Given the description of an element on the screen output the (x, y) to click on. 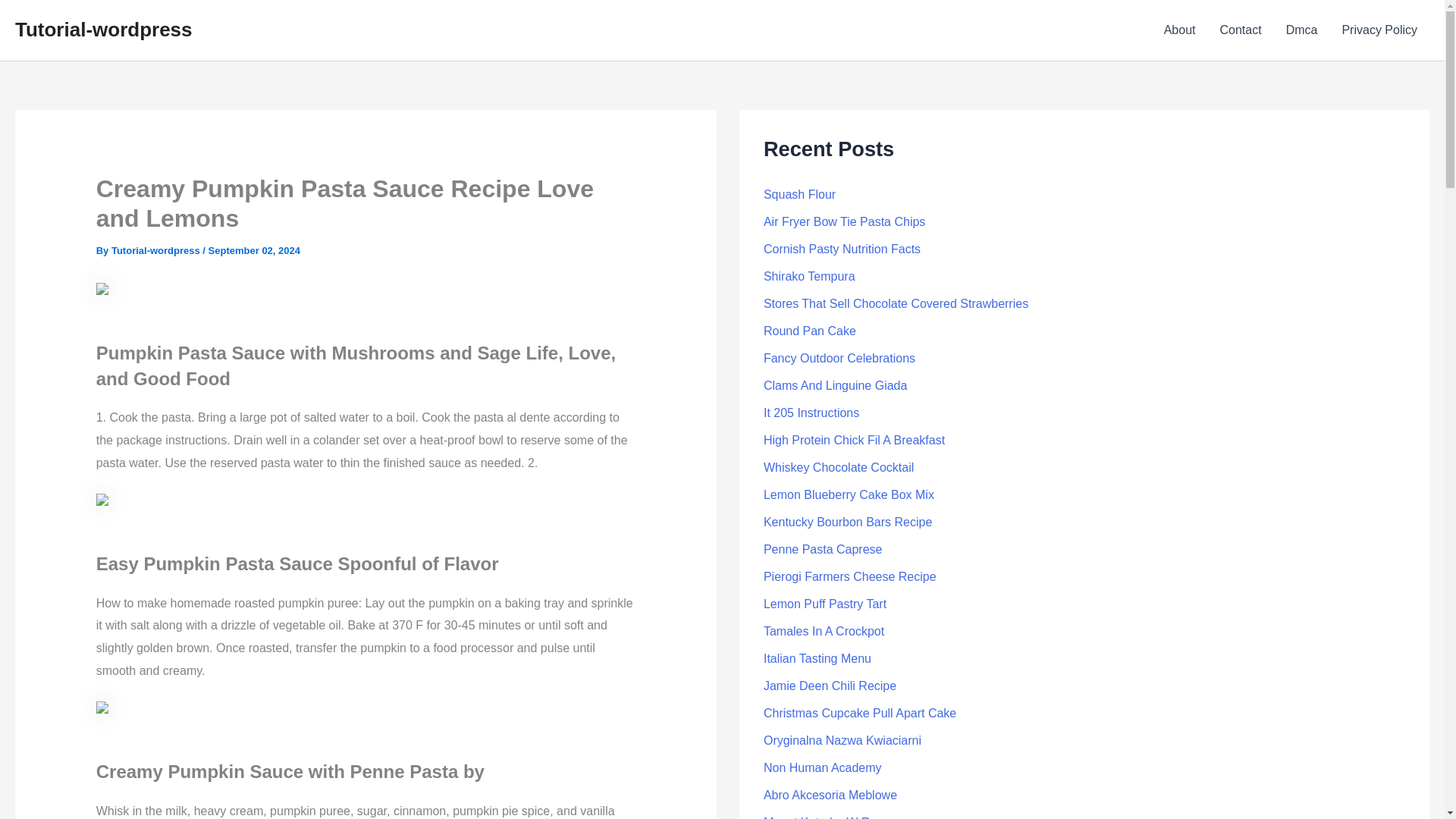
Shirako Tempura (809, 276)
Pierogi Farmers Cheese Recipe (849, 576)
Non Human Academy (822, 767)
Whiskey Chocolate Cocktail (838, 467)
Jamie Deen Chili Recipe (829, 685)
Tutorial-wordpress (157, 250)
Monet Katedra W Rouen (829, 817)
Lemon Blueberry Cake Box Mix (848, 494)
Tutorial-wordpress (103, 29)
It 205 Instructions (810, 412)
